Given the description of an element on the screen output the (x, y) to click on. 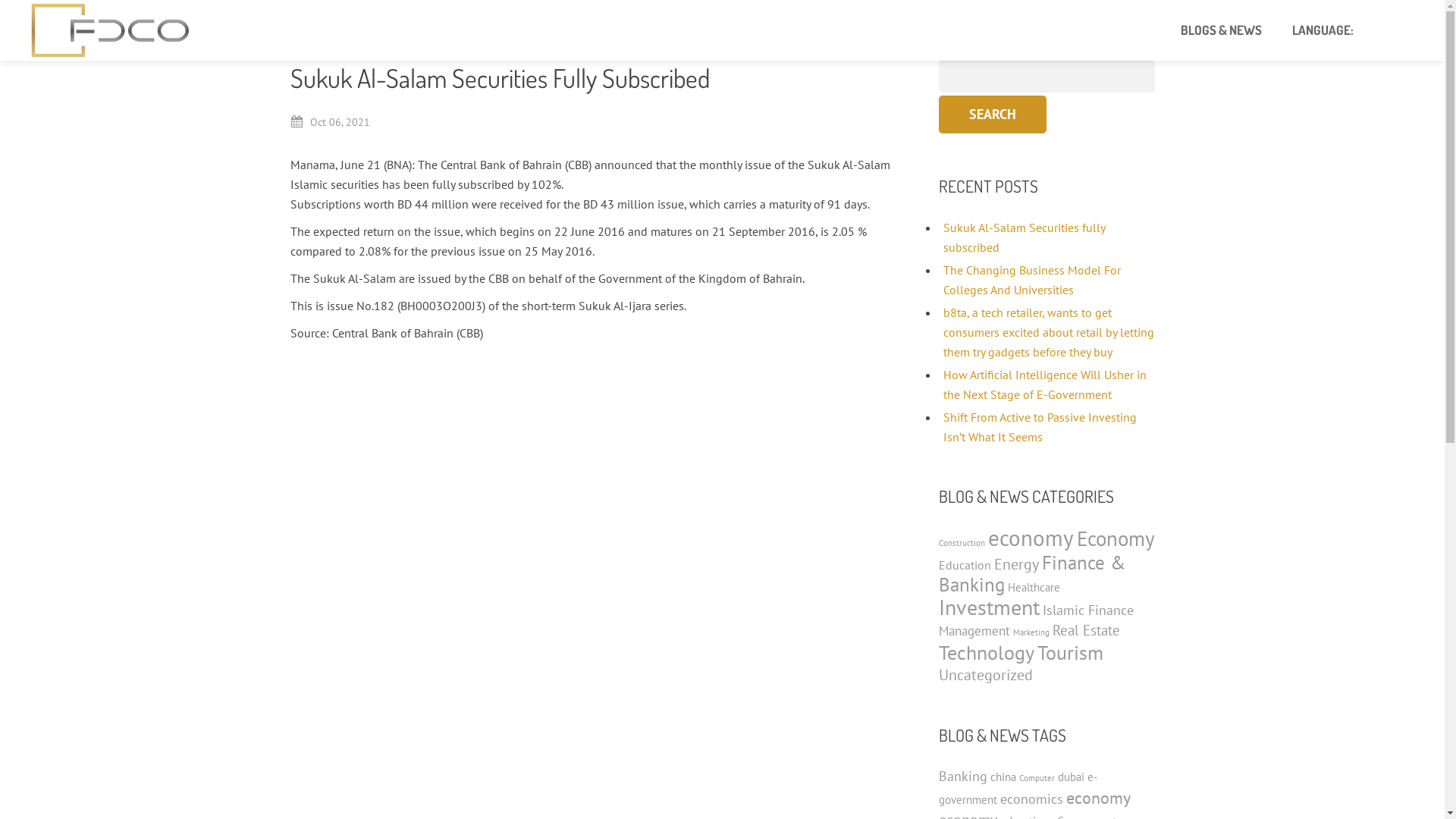
Marketing Element type: text (1031, 632)
BLOGS & NEWS Element type: text (1221, 30)
https://t.co/kWOmeTTplN Element type: text (771, 712)
LANGUAGE:  Element type: text (1324, 30)
Finance & Banking Element type: text (1031, 573)
9 months ago Element type: text (625, 554)
Technology Element type: text (986, 652)
The Changing Business Model For Colleges And Universities Element type: text (1031, 279)
economy Element type: text (1030, 537)
china Element type: text (1003, 776)
Banking Element type: text (962, 775)
Search Element type: text (992, 114)
Sukuk Al-Salam Securities fully subscribed Element type: text (1023, 236)
Real Estate Element type: text (1086, 630)
Education Element type: text (964, 564)
https://t.co/Jp0G5JR09p Element type: text (652, 633)
Tourism Element type: text (1070, 652)
Islamic Finance Element type: text (1086, 609)
dubai Element type: text (1070, 776)
Energy Element type: text (1015, 563)
Computer Element type: text (1036, 777)
Economy Element type: text (1115, 538)
economics Element type: text (1030, 798)
info@1stcen.com Element type: text (962, 615)
Investment Element type: text (988, 607)
https://t.co/3tBMeiguN7 Element type: text (652, 534)
Healthcare Element type: text (1033, 587)
Uncategorized Element type: text (985, 674)
2 years ago Element type: text (619, 732)
e-government Element type: text (1017, 787)
economy Element type: text (1098, 797)
Construction Element type: text (961, 542)
@SAFoundingDay Element type: text (653, 475)
1 year ago Element type: text (616, 653)
Management Element type: text (974, 630)
